Given the description of an element on the screen output the (x, y) to click on. 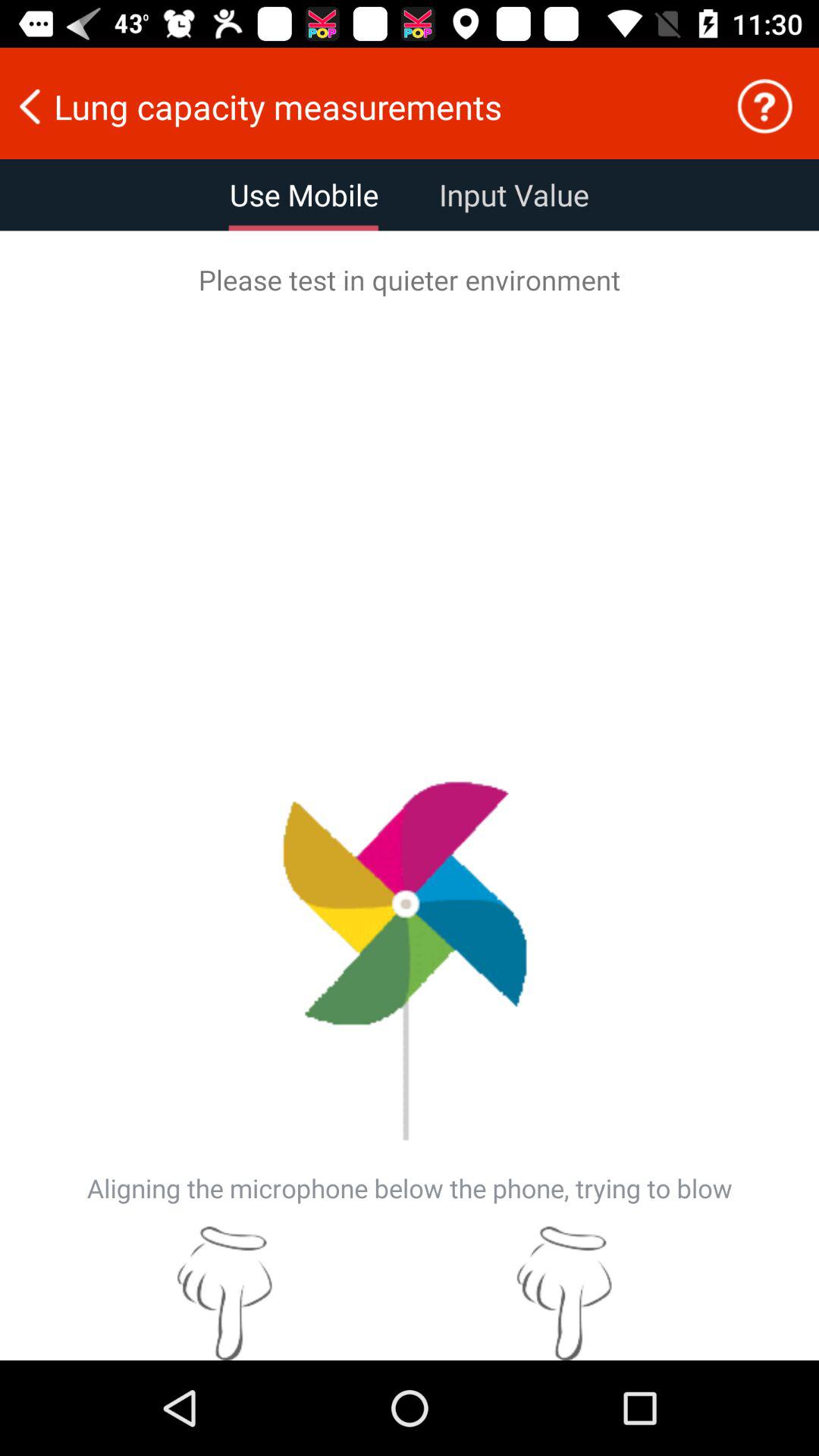
swipe to lung capacity measurements (357, 106)
